Given the description of an element on the screen output the (x, y) to click on. 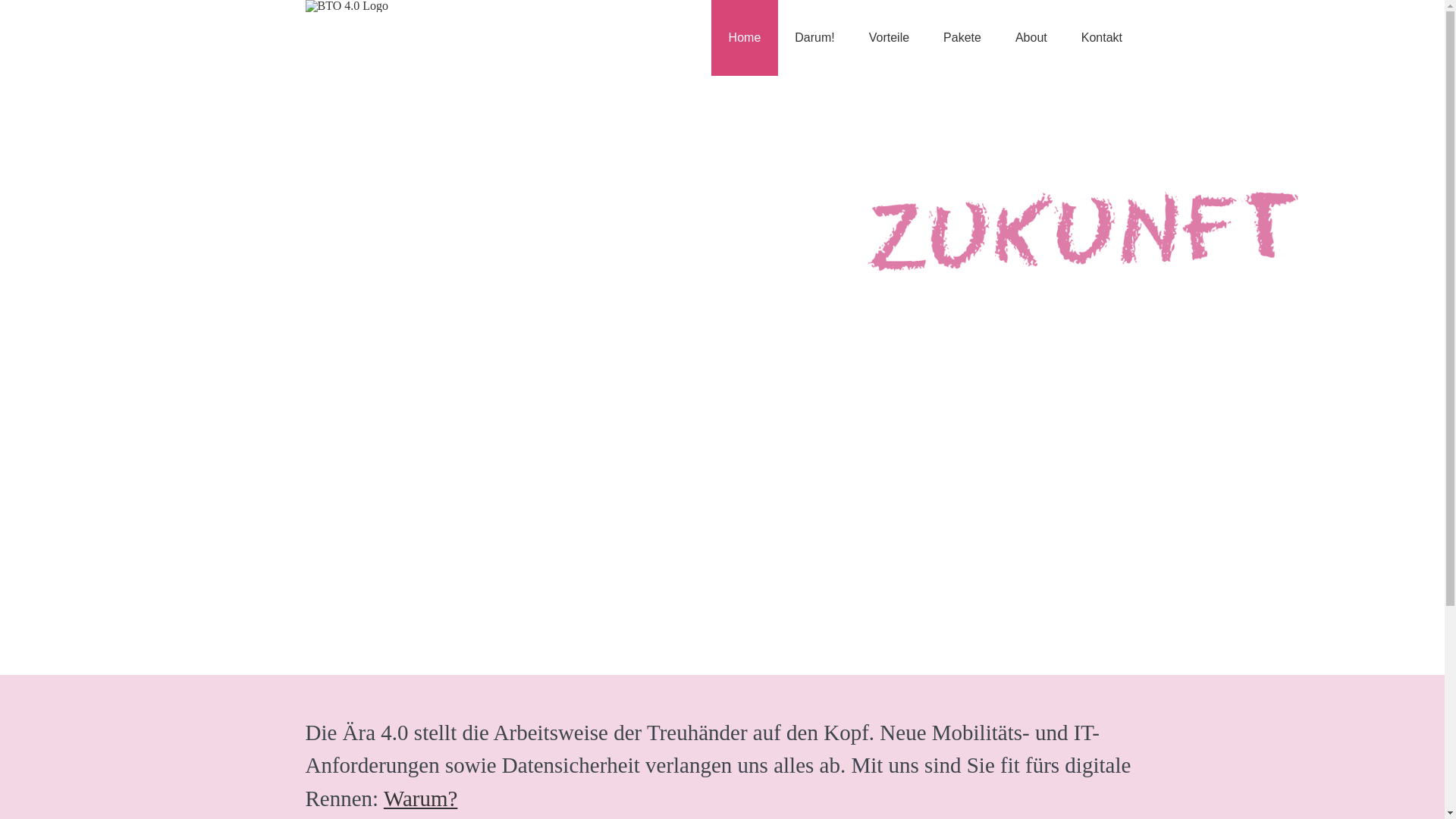
Warum? Element type: text (420, 798)
Darum! Element type: text (814, 37)
Pakete Element type: text (962, 37)
Home Element type: text (744, 37)
About Element type: text (1030, 37)
Vorteile Element type: text (888, 37)
Kontakt Element type: text (1101, 37)
BTO go Zukunft Element type: hover (721, 367)
